Given the description of an element on the screen output the (x, y) to click on. 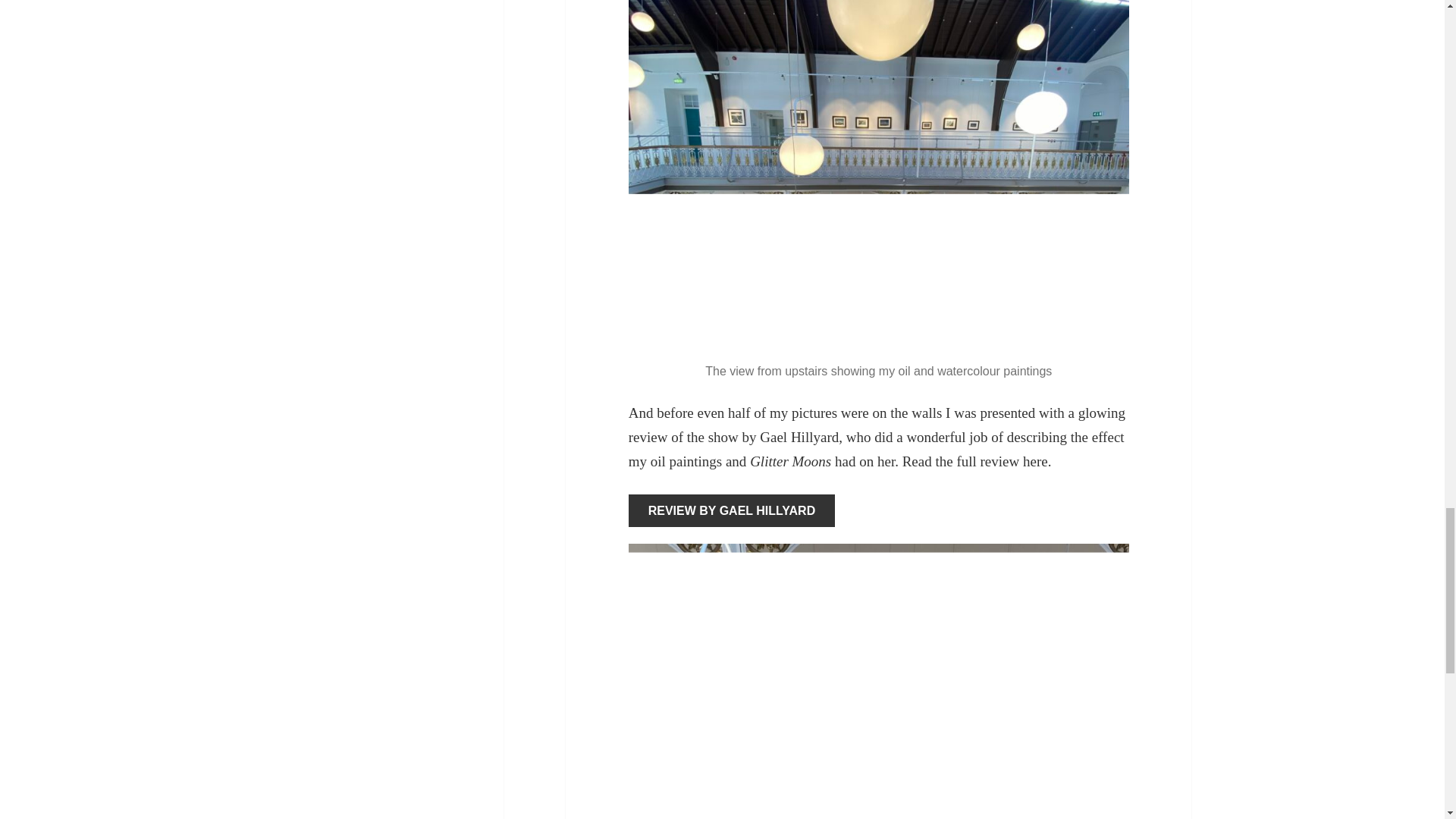
REVIEW BY GAEL HILLYARD (731, 510)
